Given the description of an element on the screen output the (x, y) to click on. 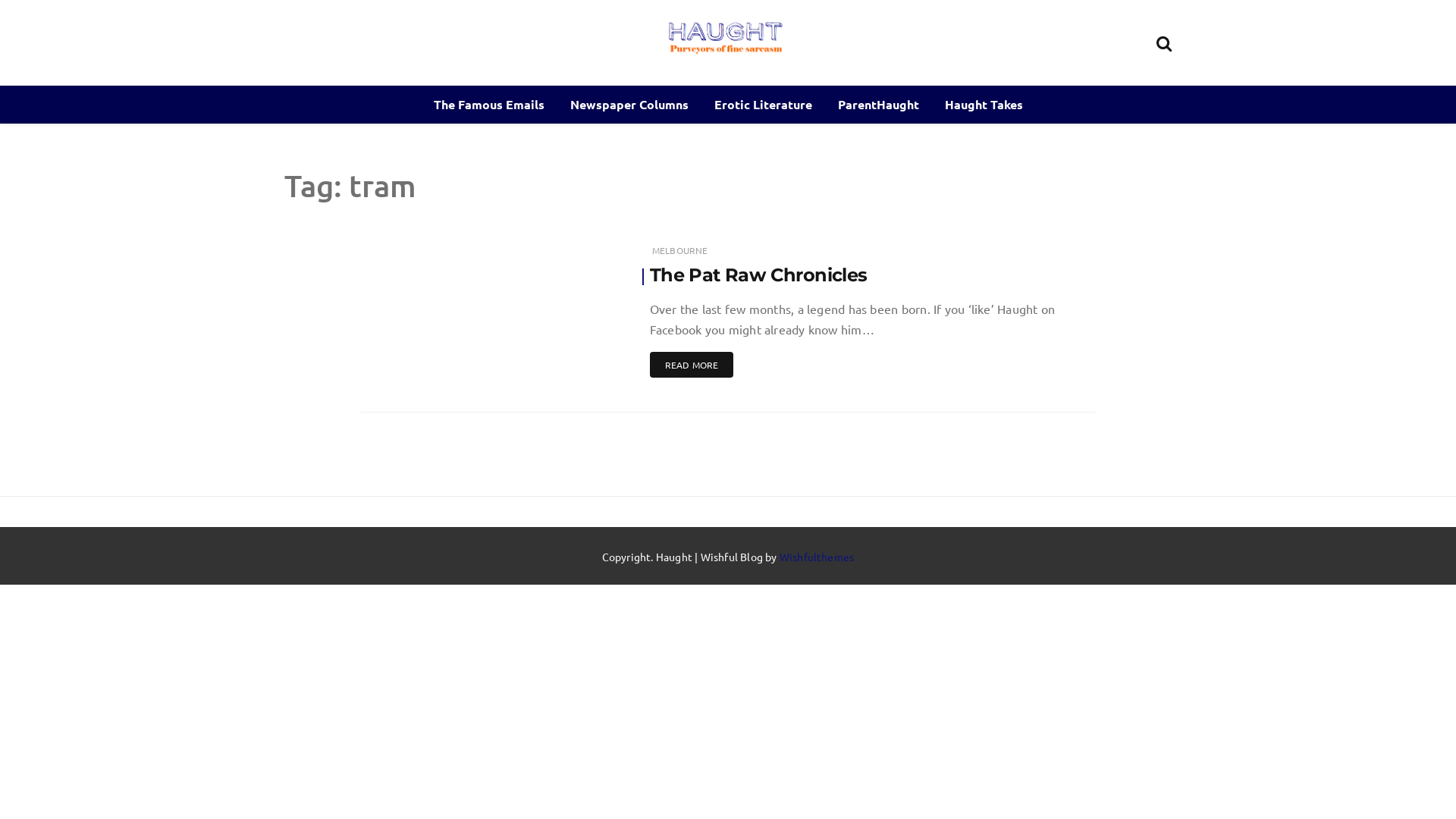
Haught Element type: text (782, 82)
The Pat Raw Chronicles Element type: text (758, 274)
Erotic Literature Element type: text (762, 104)
Haught Takes Element type: text (982, 104)
Newspaper Columns Element type: text (628, 104)
ParentHaught Element type: text (878, 104)
MELBOURNE Element type: text (680, 250)
READ MORE Element type: text (691, 364)
The Famous Emails Element type: text (488, 104)
Wishfulthemes Element type: text (816, 556)
Search Element type: hover (1163, 40)
